Given the description of an element on the screen output the (x, y) to click on. 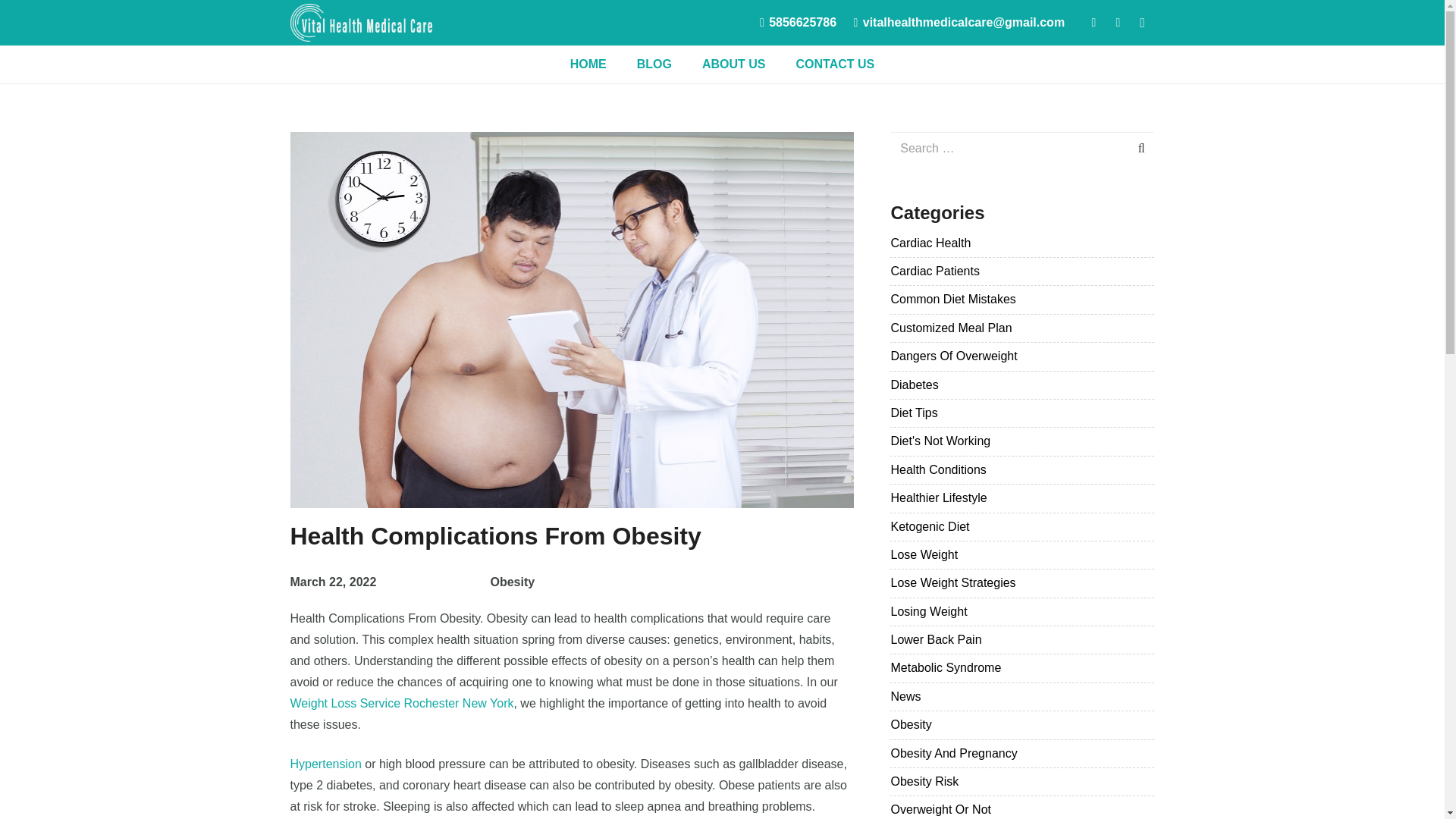
Lose Weight Strategies (951, 582)
Cardiac Health (930, 242)
Common Diet Mistakes (951, 298)
Diet Tips (913, 412)
5856625786 (797, 21)
Dangers Of Overweight (952, 355)
Metabolic Syndrome (945, 667)
Customized Meal Plan (950, 327)
Healthier Lifestyle (938, 497)
Obesity (910, 724)
Obesity And Pregnancy (952, 753)
HOME (587, 64)
Losing Weight (927, 611)
Twitter (1117, 22)
Ketogenic Diet (929, 526)
